Given the description of an element on the screen output the (x, y) to click on. 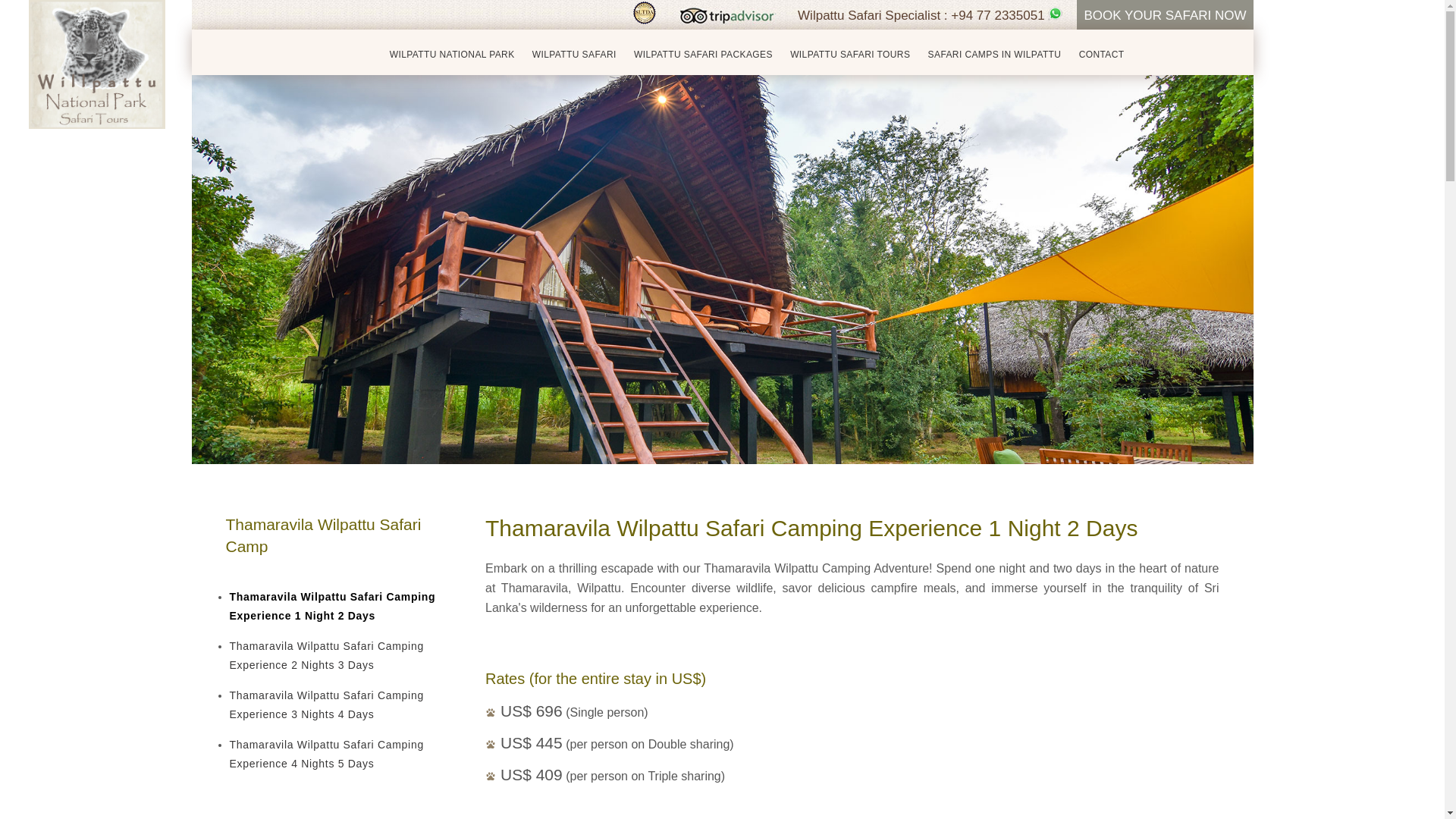
WILPATTU NATIONAL PARK (452, 54)
WILPATTU SAFARI (573, 54)
SAFARI CAMPS IN WILPATTU (994, 54)
WILPATTU SAFARI TOURS (850, 54)
CONTACT (1101, 54)
WILPATTU SAFARI PACKAGES (703, 54)
BOOK YOUR SAFARI NOW (1164, 15)
